Given the description of an element on the screen output the (x, y) to click on. 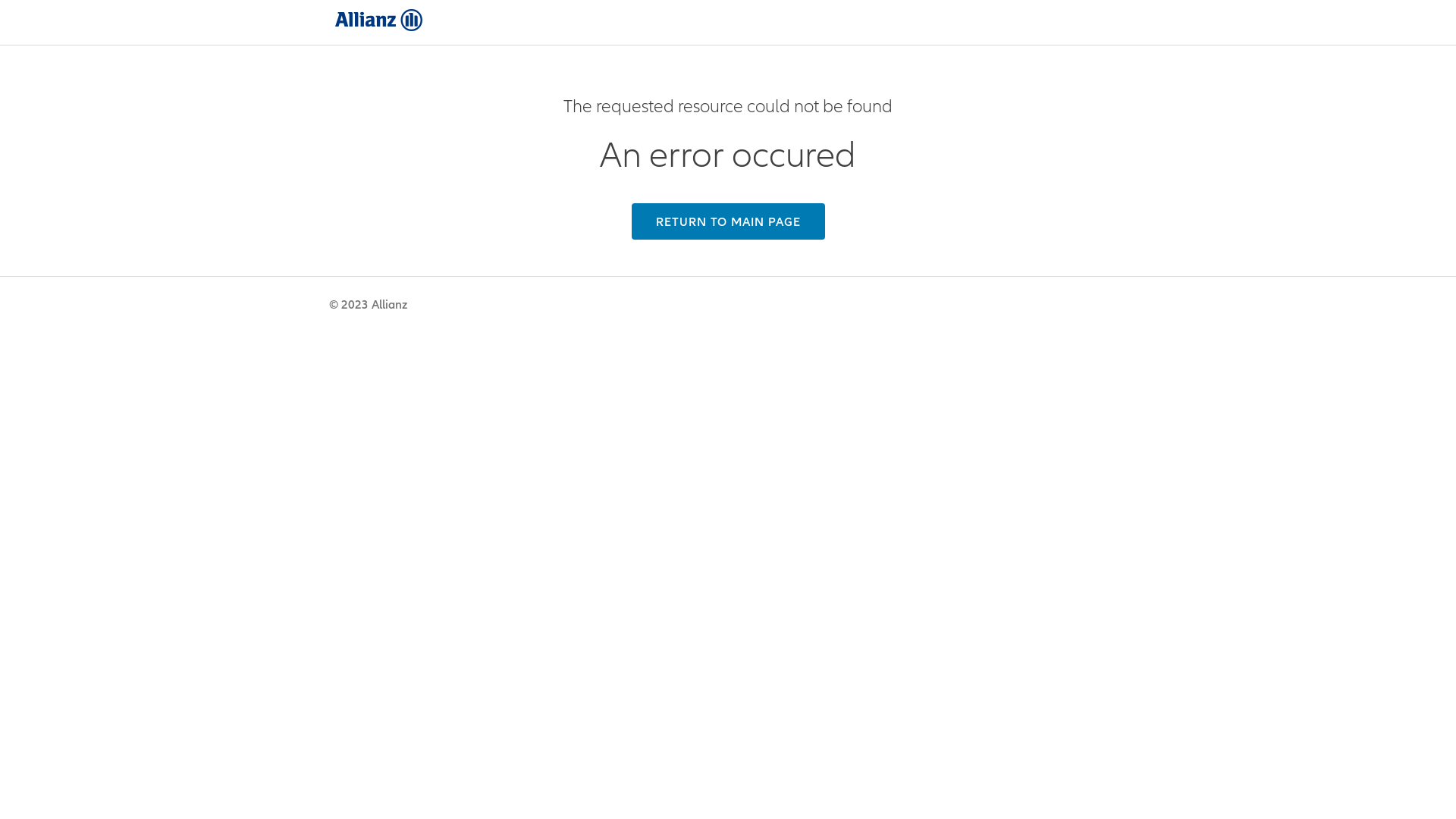
RETURN TO MAIN PAGE Element type: text (727, 221)
